Given the description of an element on the screen output the (x, y) to click on. 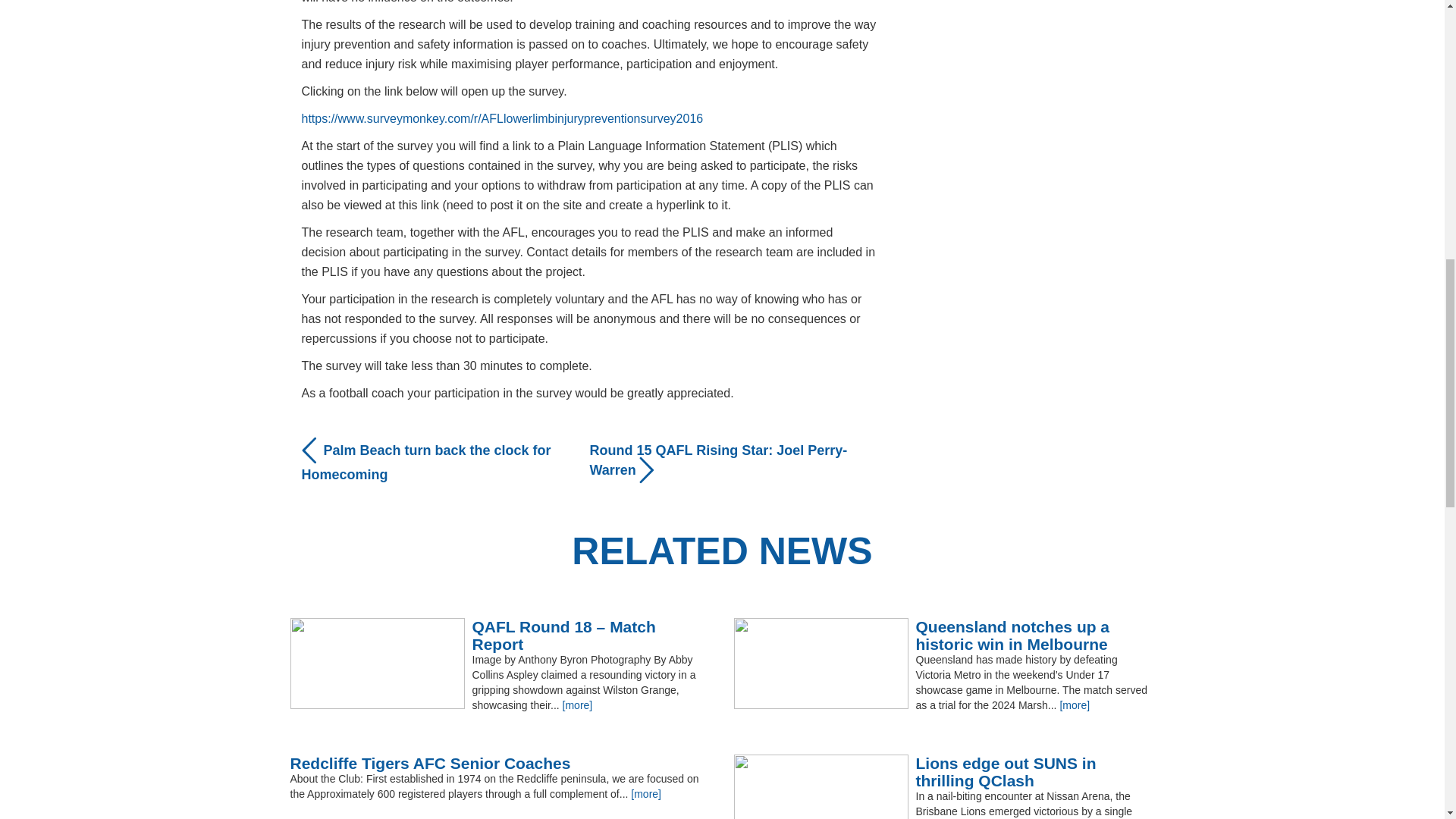
Lions edge out SUNS in thrilling QClash (943, 771)
Redcliffe Tigers AFC Senior Coaches (499, 763)
Queensland notches up a historic win in Melbourne (943, 635)
